Given the description of an element on the screen output the (x, y) to click on. 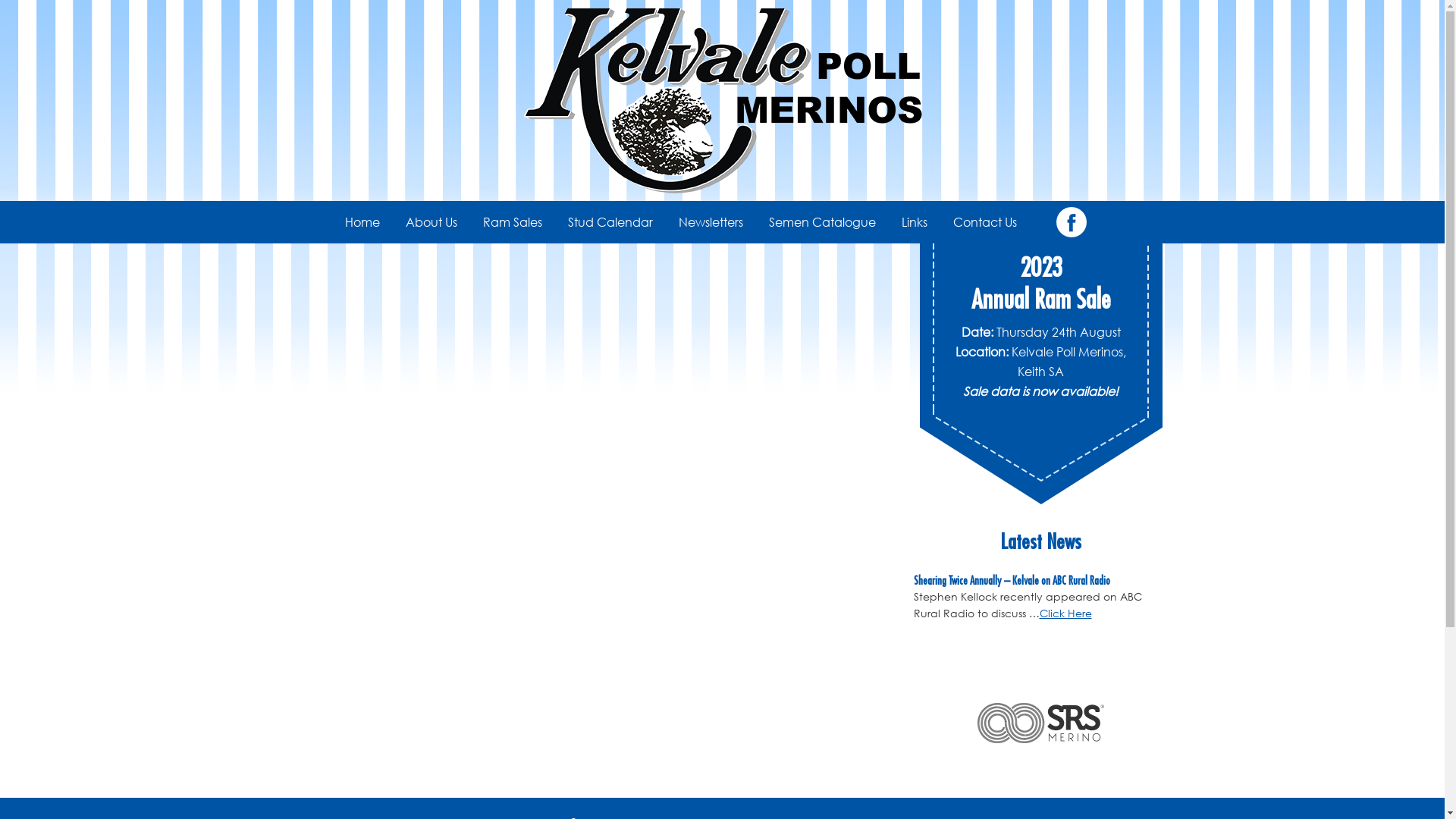
Click Here Element type: text (1064, 612)
facebook Element type: text (1070, 221)
Kelvale Poll Merinos Element type: text (721, 100)
About Us Element type: text (431, 221)
Newsletters Element type: text (710, 221)
Stud Calendar Element type: text (610, 221)
Semen Catalogue Element type: text (822, 221)
Links Element type: text (914, 221)
Ram Sales Element type: text (512, 221)
Contact Us Element type: text (984, 221)
Home Element type: text (362, 221)
